Given the description of an element on the screen output the (x, y) to click on. 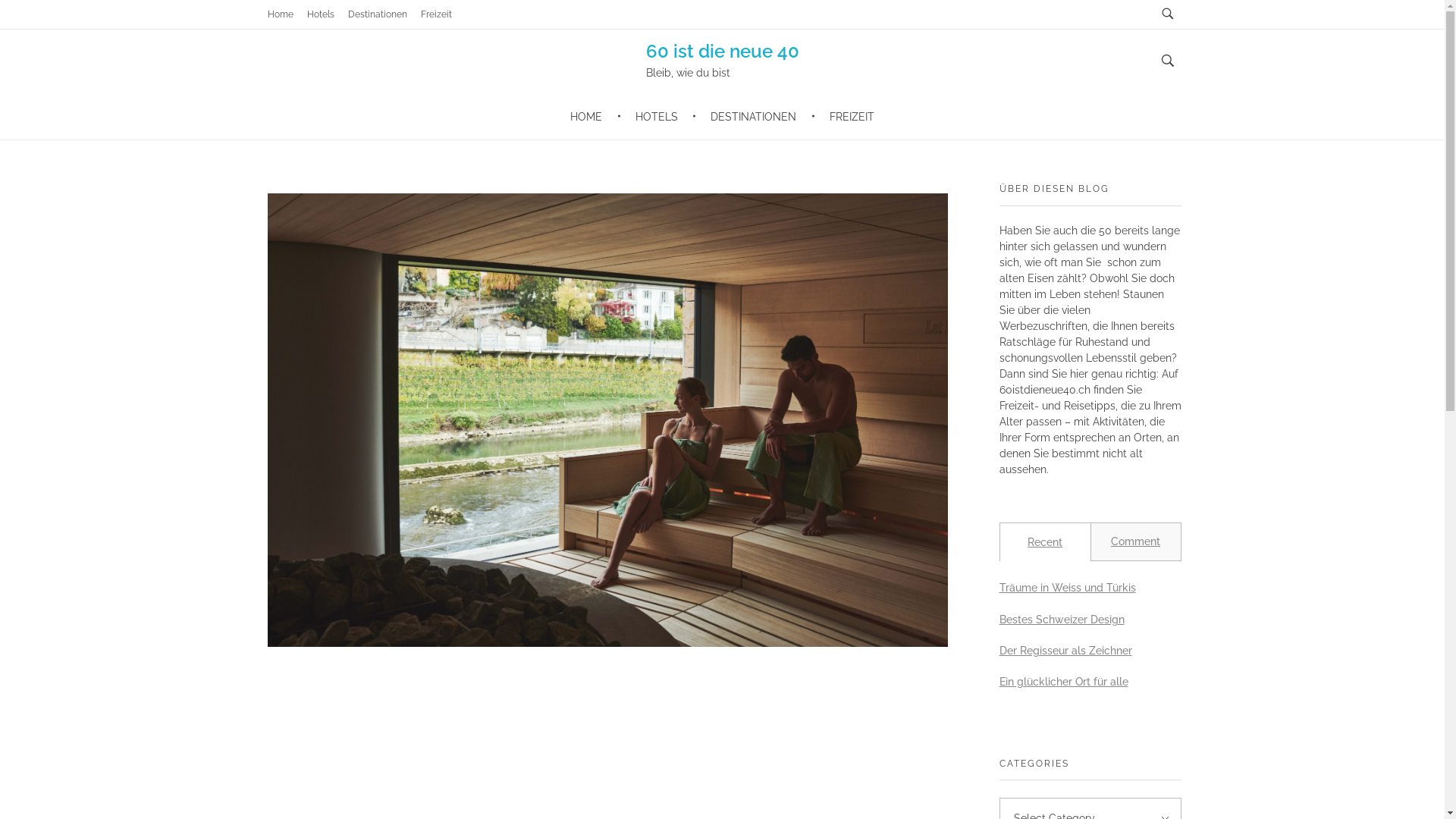
Search Element type: text (40, 13)
Comment Element type: text (1135, 541)
Home Element type: text (279, 14)
Hotels Element type: text (319, 14)
HOTELS Element type: text (658, 116)
Bestes Schweizer Design Element type: text (1061, 619)
60 ist die neue 40 Element type: text (722, 51)
Der Regisseur als Zeichner Element type: text (1065, 650)
Freizeit Element type: text (435, 14)
FREIZEIT Element type: text (844, 116)
DESTINATIONEN Element type: text (755, 116)
Destinationen Element type: text (376, 14)
HOME Element type: text (595, 116)
Recent Element type: text (1044, 542)
